Given the description of an element on the screen output the (x, y) to click on. 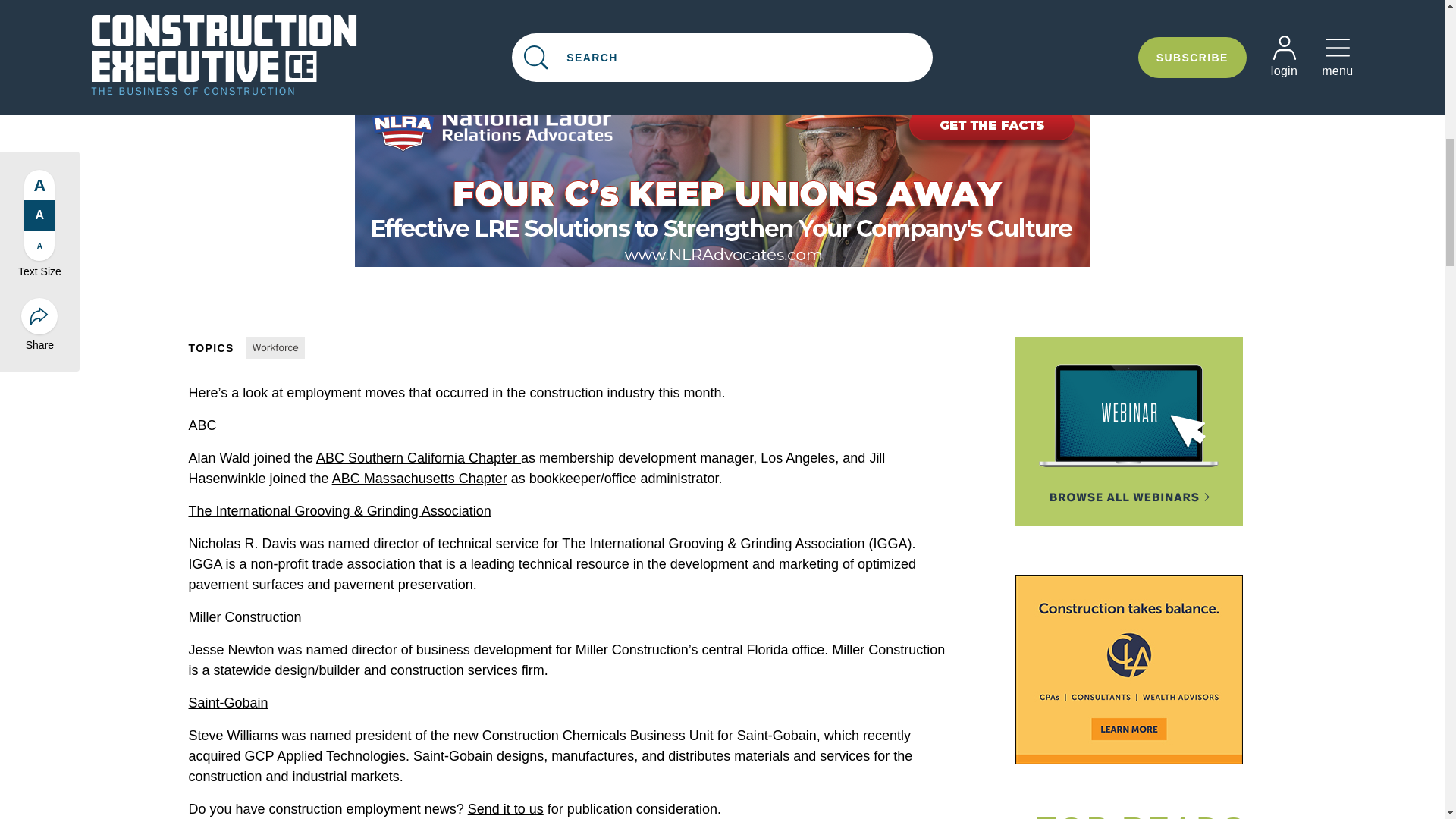
Saint-Gobain (227, 702)
A (39, 186)
A (39, 125)
ABC (201, 425)
ABC Massachusetts Chapter (418, 478)
Send it to us (505, 808)
Miller Construction (244, 616)
ABC Southern California Chapter (418, 458)
A (39, 155)
